Given the description of an element on the screen output the (x, y) to click on. 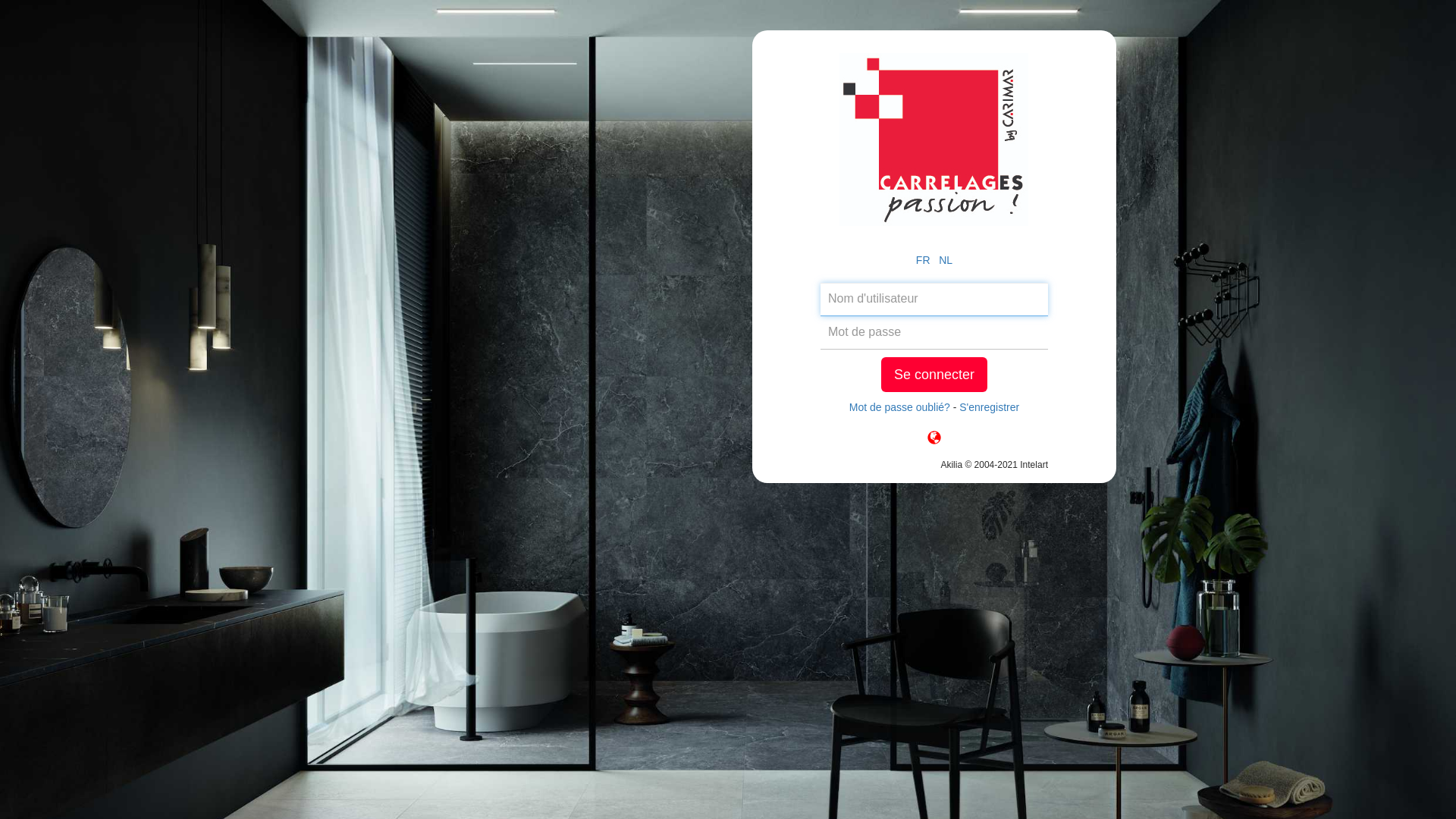
Se connecter Element type: text (934, 374)
S'enregistrer Element type: text (989, 407)
FR Element type: text (923, 260)
NL Element type: text (945, 260)
